Given the description of an element on the screen output the (x, y) to click on. 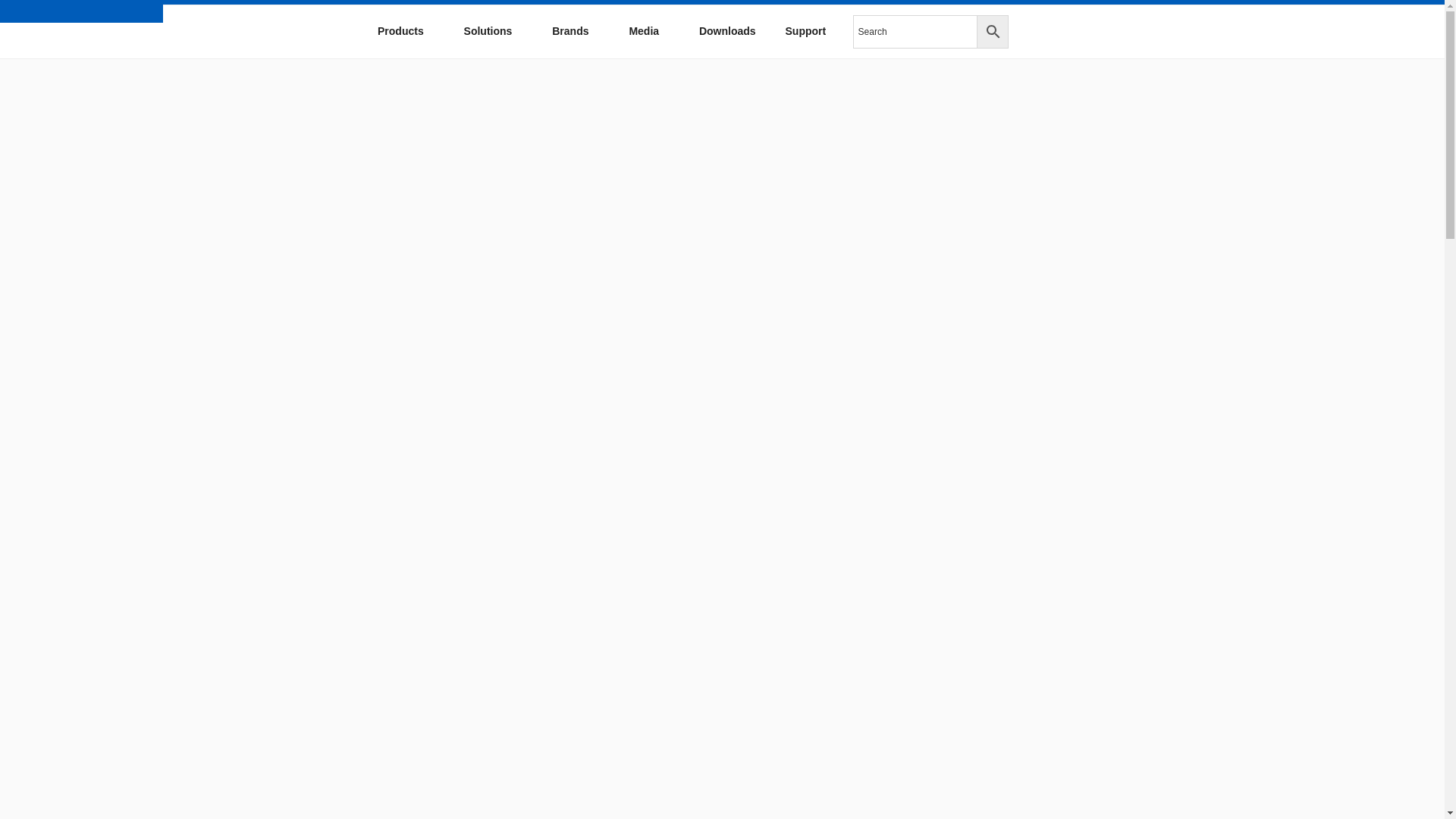
PEAVEY COMMERCIAL AUDIO (138, 73)
Products (405, 31)
